Given the description of an element on the screen output the (x, y) to click on. 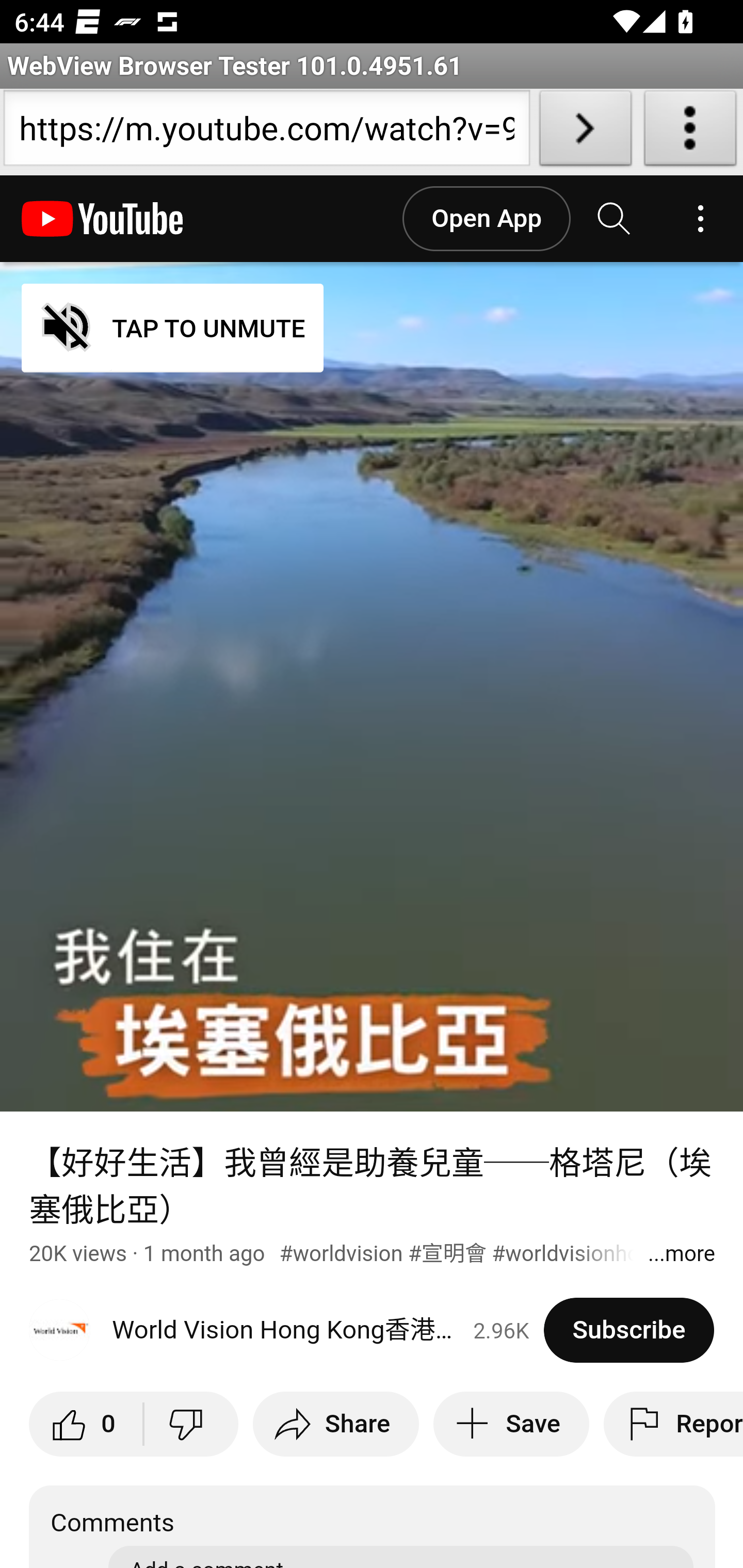
Load URL (585, 132)
About WebView (690, 132)
YouTube (102, 219)
Search YouTube (614, 219)
Account (700, 219)
Open App (485, 218)
TAP TO UNMUTE (173, 328)
Show more (681, 1254)
#worldvision (340, 1253)
#宣明會 (447, 1253)
#worldvisionhongkong (602, 1253)
Subscribe to World Vision Hong Kong香港世界宣明會. (627, 1329)
World Vision Hong Kong香港世界宣明會 (286, 1329)
like this video along with 0 other people (86, 1423)
Dislike this video (190, 1423)
Share (335, 1423)
Save to playlist (511, 1423)
Report (673, 1423)
